Given the description of an element on the screen output the (x, y) to click on. 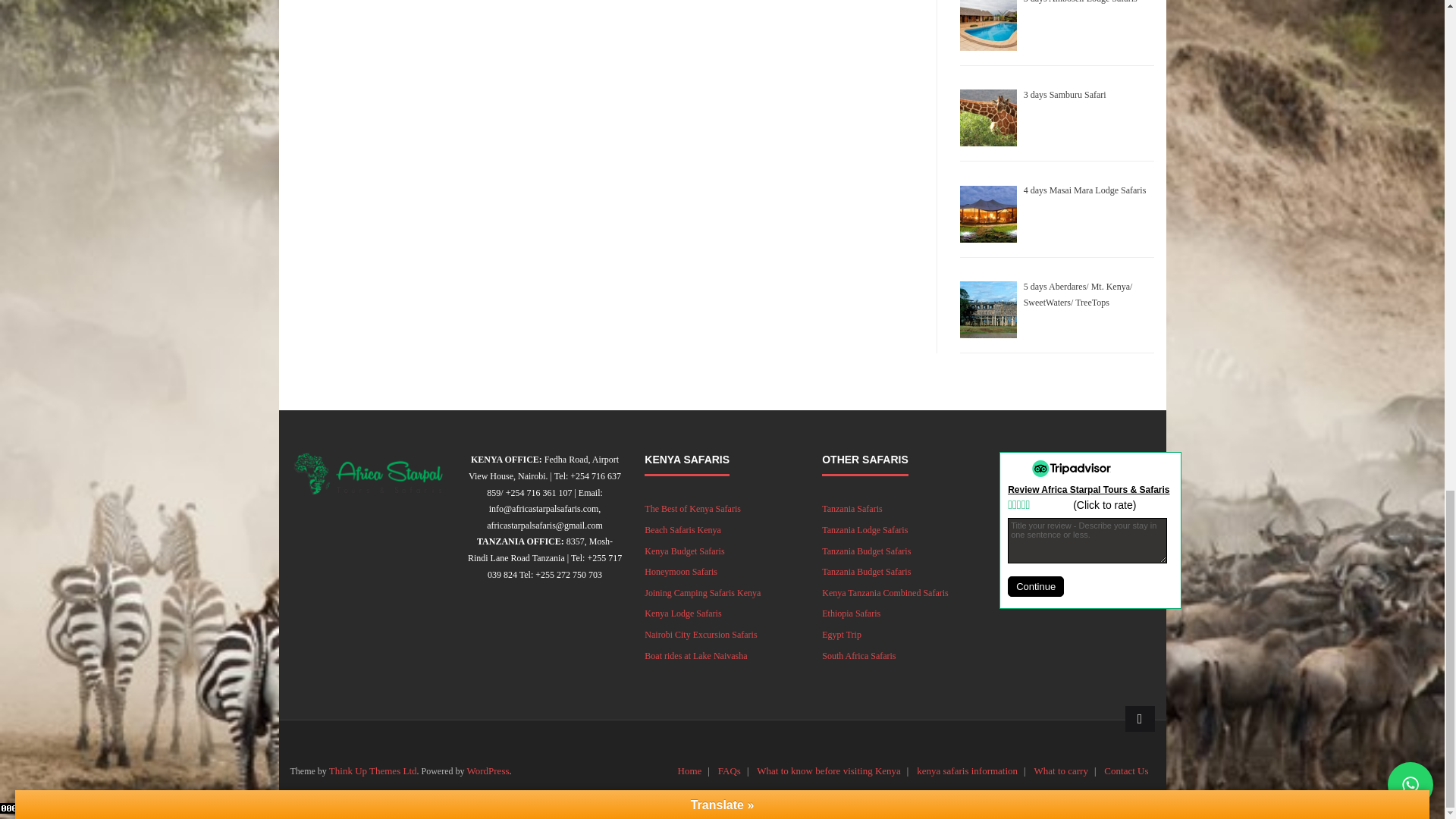
Continue (1035, 586)
